Given the description of an element on the screen output the (x, y) to click on. 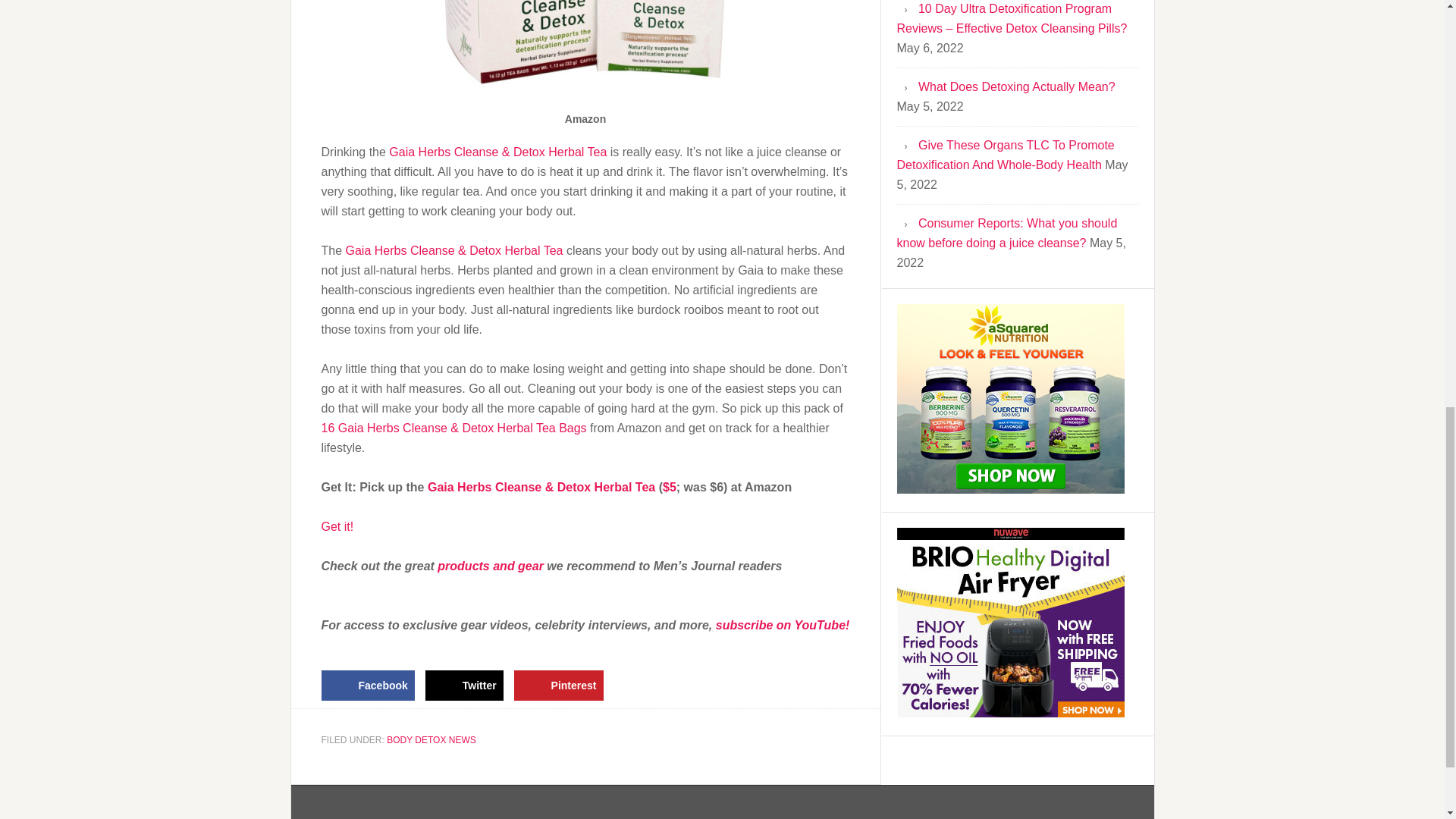
products and gear (490, 565)
Share on X (464, 685)
subscribe on YouTube! (783, 625)
Share on Facebook (367, 685)
Get it! (337, 526)
Save to Pinterest (558, 685)
BODY DETOX NEWS (431, 739)
Twitter (464, 685)
Pinterest (558, 685)
What Does Detoxing Actually Mean? (1016, 86)
Facebook (367, 685)
